Given the description of an element on the screen output the (x, y) to click on. 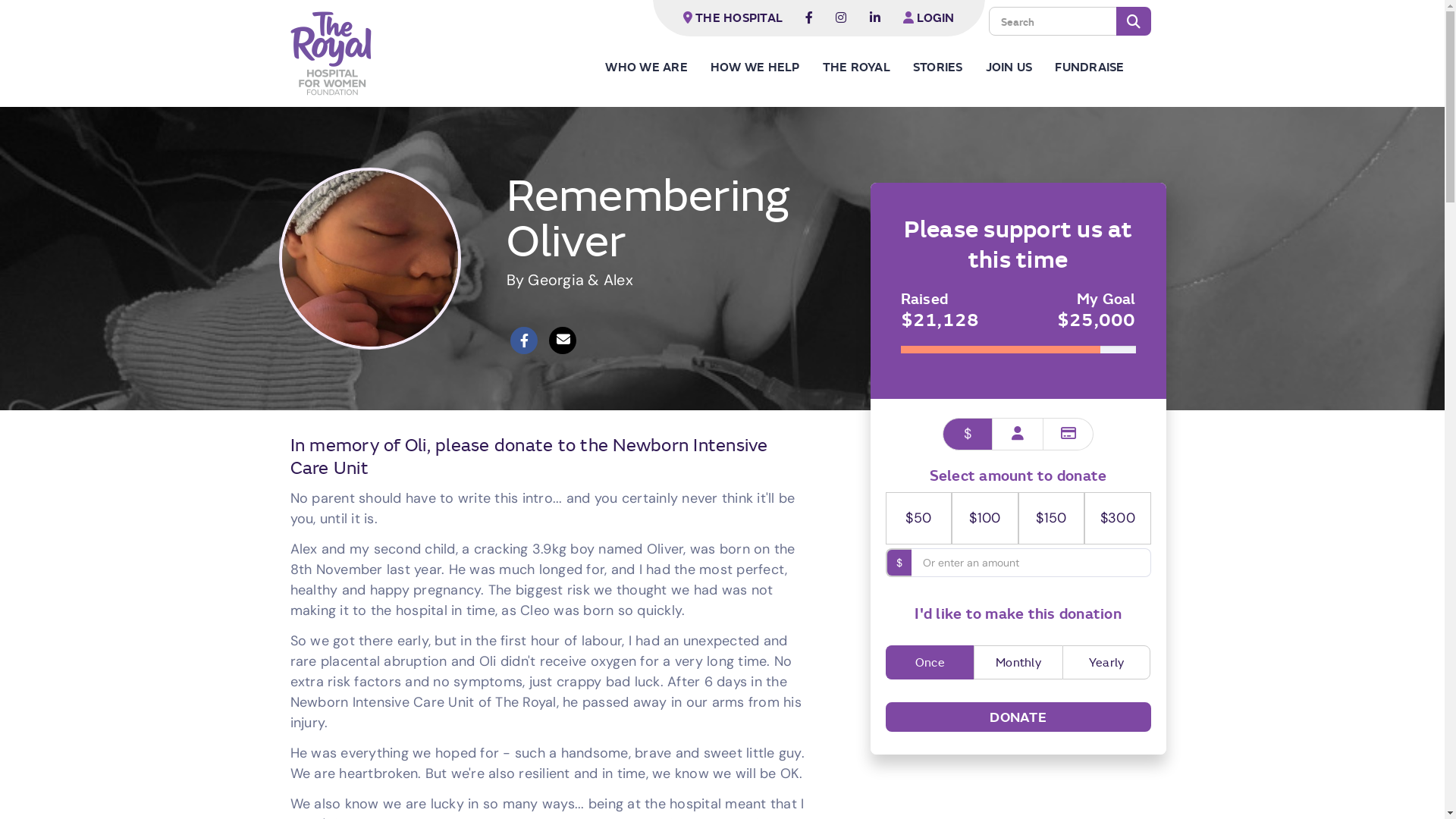
JOIN US Element type: text (1020, 66)
THE ROYAL Element type: text (867, 66)
Georgia & Alex Element type: text (580, 279)
STORIES Element type: text (949, 66)
FUNDRAISE Element type: text (1100, 66)
HOW WE HELP Element type: text (766, 66)
WHO WE ARE Element type: text (657, 66)
$300 Element type: text (1117, 518)
$50 Element type: text (917, 518)
$100 Element type: text (984, 518)
$ Element type: text (966, 433)
$150 Element type: text (1051, 518)
DONATE Element type: text (1018, 716)
